Given the description of an element on the screen output the (x, y) to click on. 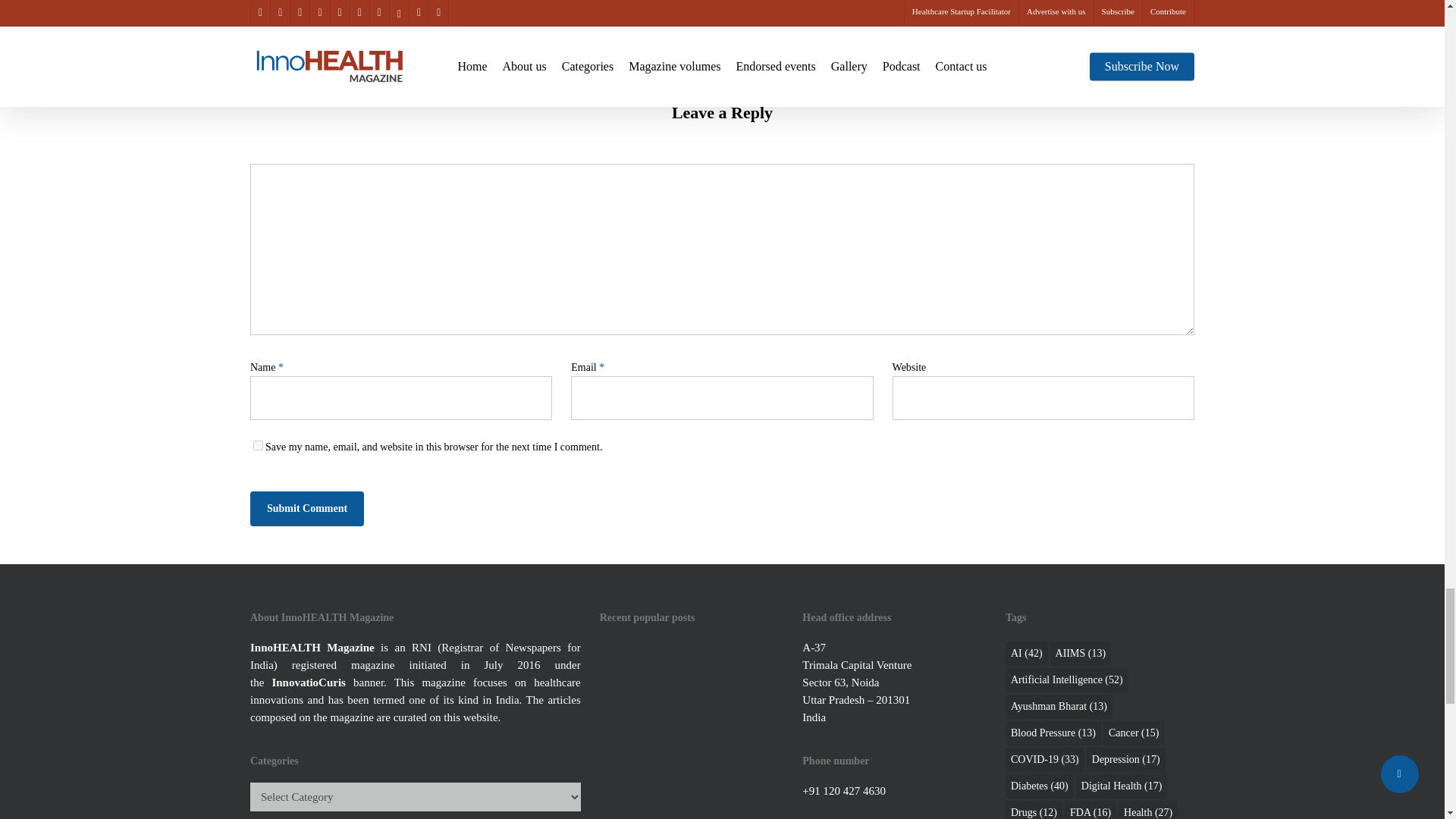
Submit Comment (307, 508)
yes (258, 445)
